Given the description of an element on the screen output the (x, y) to click on. 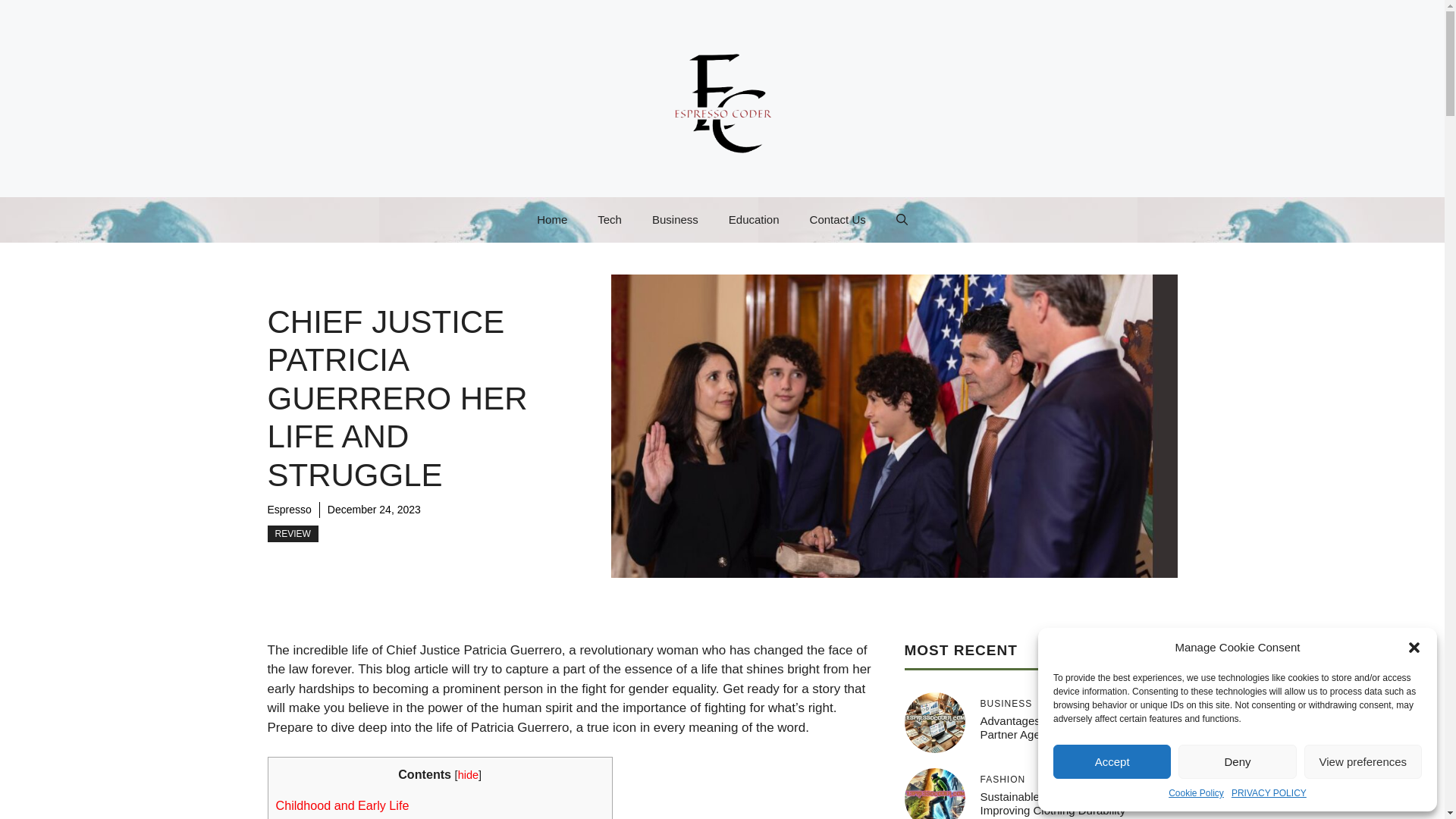
Business (675, 219)
PRIVACY POLICY (1268, 793)
Contact Us (837, 219)
View preferences (1363, 761)
Cookie Policy (1196, 793)
Home (551, 219)
Espresso (288, 509)
Education (753, 219)
hide (468, 775)
